Given the description of an element on the screen output the (x, y) to click on. 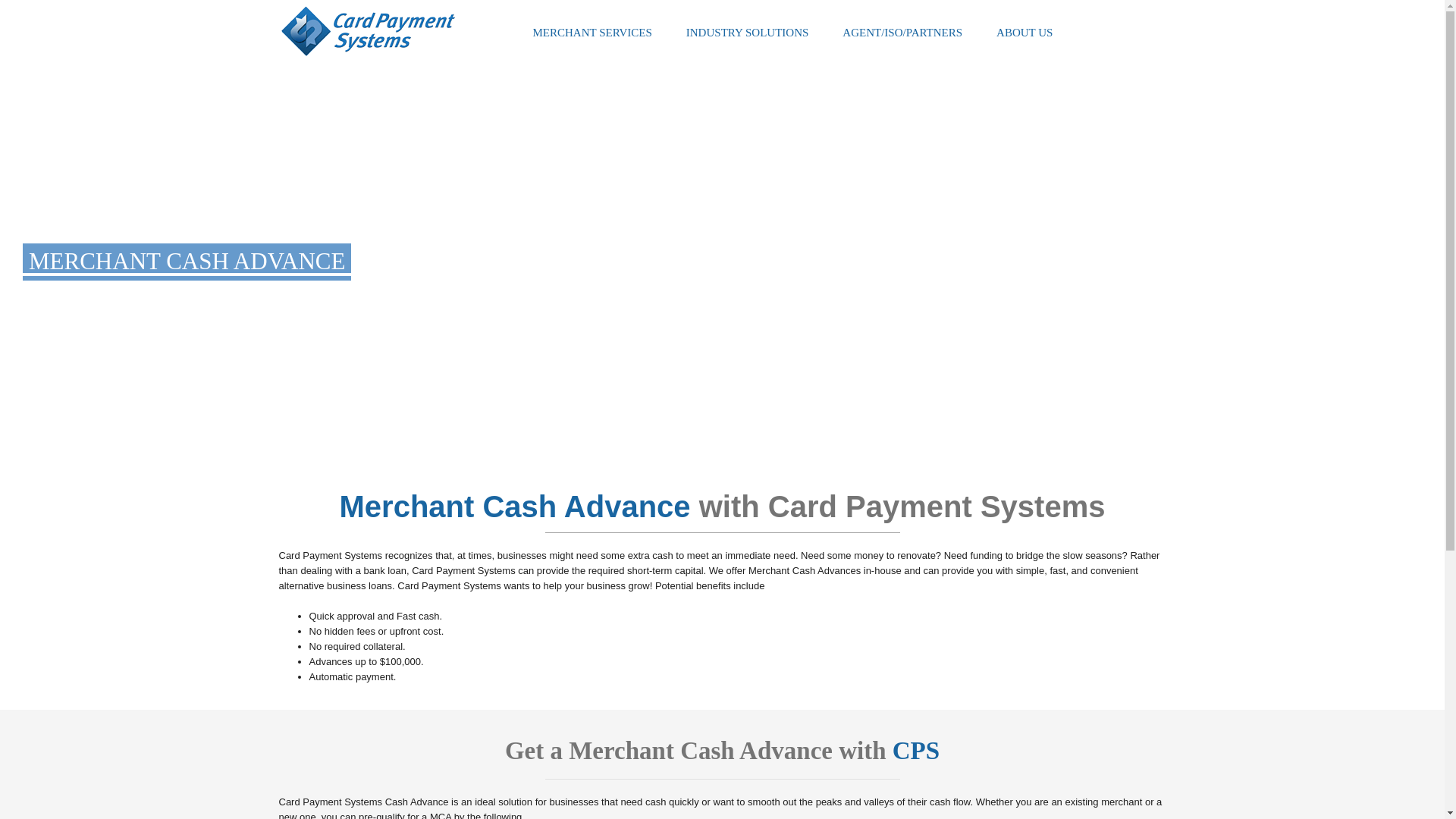
Privacy (205, 745)
ABOUT US (1023, 32)
Instagram (1249, 751)
PCI (272, 745)
MERCHANT SERVICES (591, 32)
About Us (124, 745)
Twitter (1191, 751)
Linkedin (1220, 751)
Facebook (1162, 751)
INDUSTRY SOLUTIONS (747, 32)
